Given the description of an element on the screen output the (x, y) to click on. 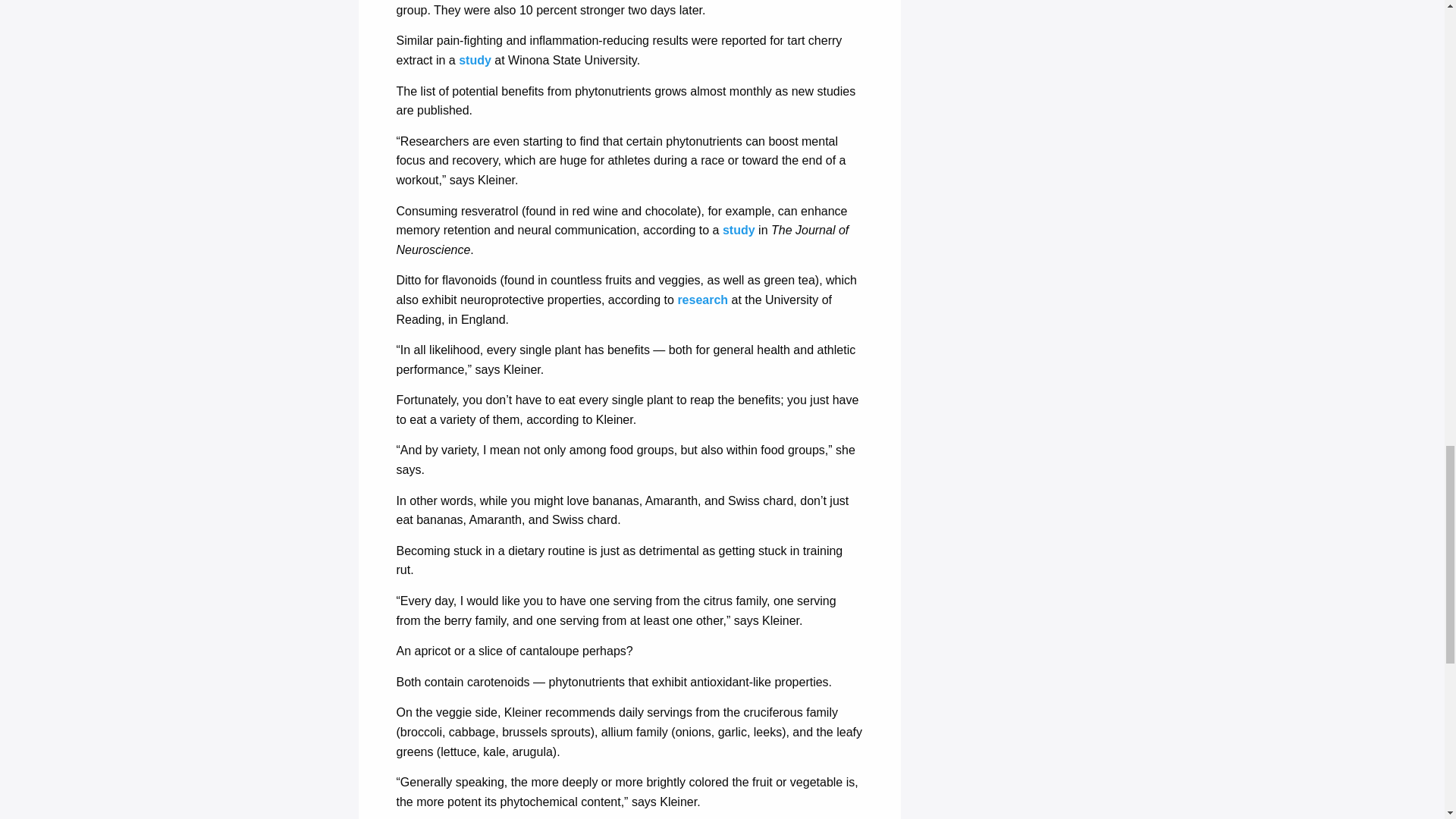
Effects of Resveratrol on Memory Performance (738, 229)
The neuroprotective potential of flavonoids (702, 299)
Tart cherry extract and inflammation (475, 60)
